Given the description of an element on the screen output the (x, y) to click on. 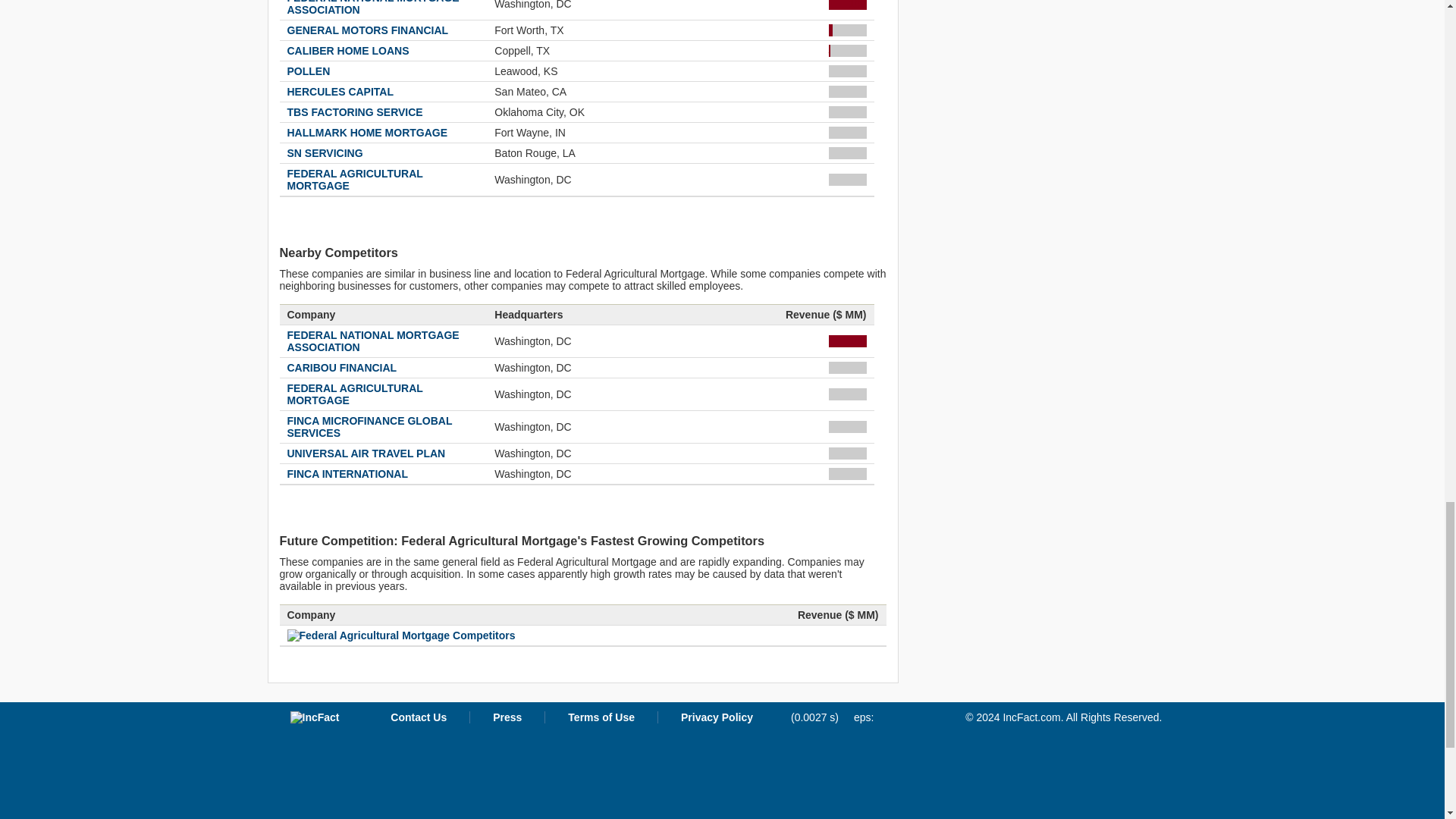
GENERAL MOTORS FINANCIAL (367, 30)
HALLMARK HOME MORTGAGE (366, 132)
IncFact.com (314, 717)
HERCULES CAPITAL (339, 91)
CARIBOU FINANCIAL (341, 367)
FEDERAL NATIONAL MORTGAGE ASSOCIATION (372, 340)
SN SERVICING (324, 152)
POLLEN (308, 70)
CALIBER HOME LOANS (347, 50)
TBS FACTORING SERVICE (354, 111)
